Given the description of an element on the screen output the (x, y) to click on. 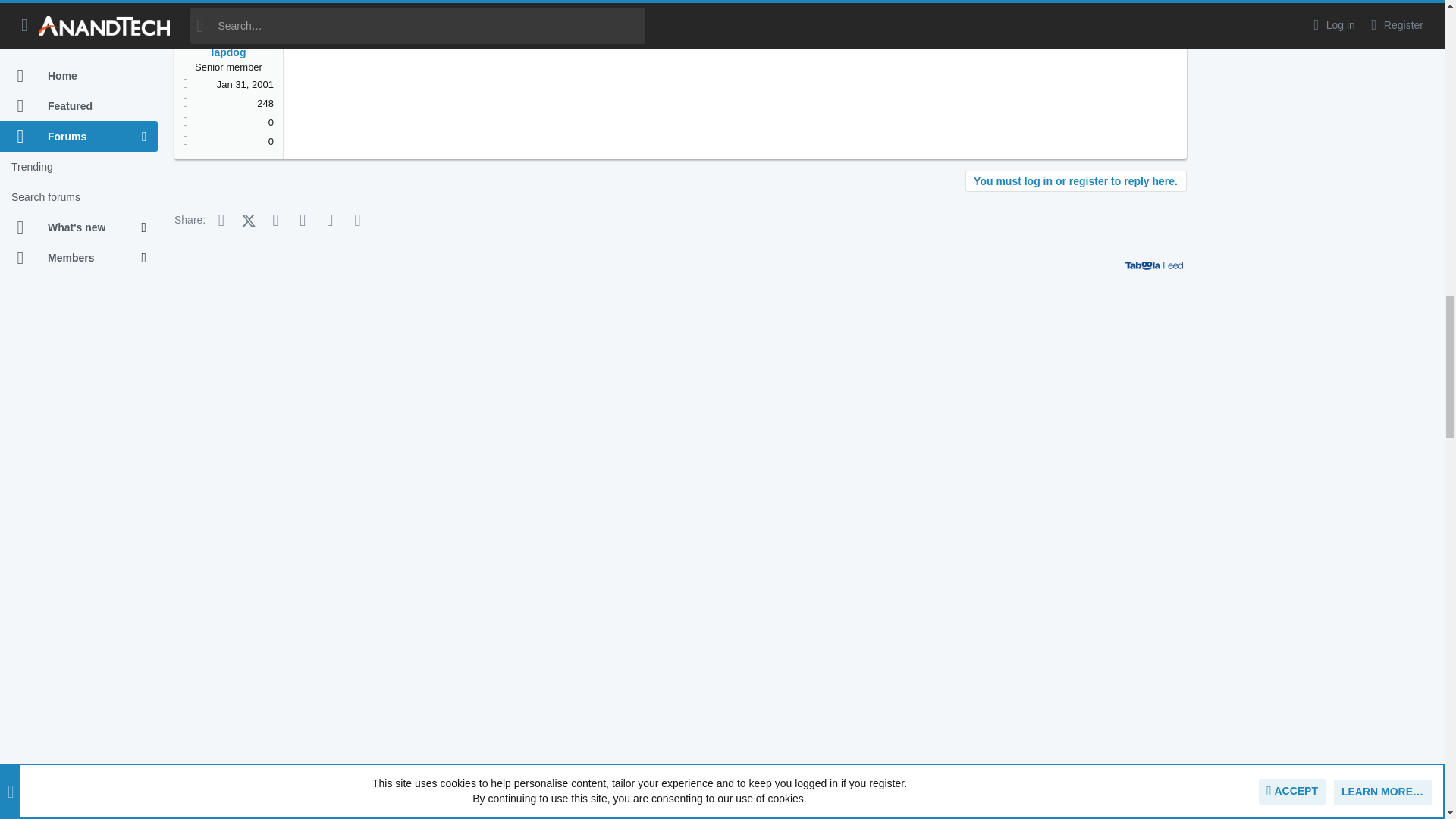
Mar 18, 2001 at 1:57 AM (321, 9)
